Given the description of an element on the screen output the (x, y) to click on. 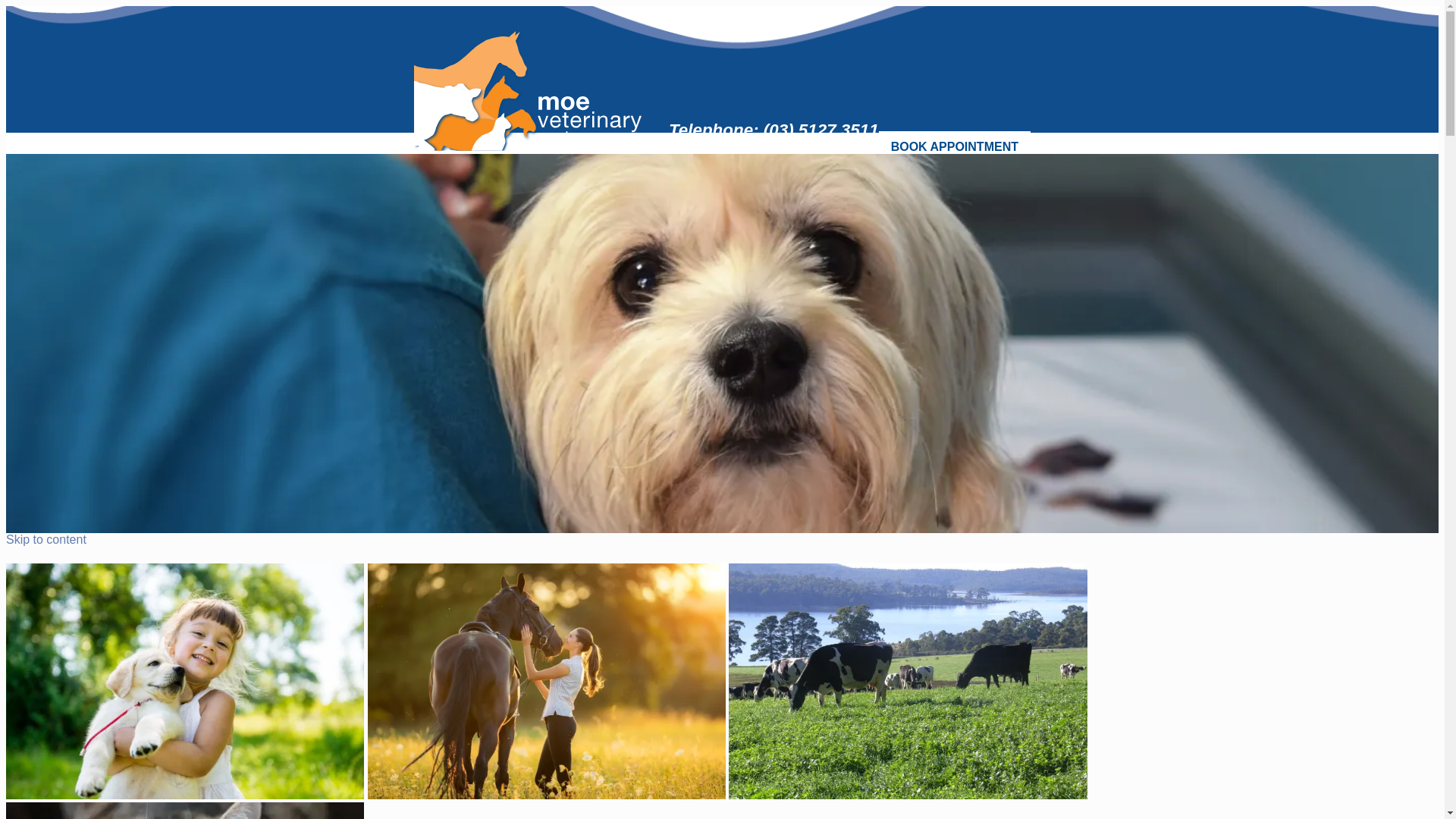
home Element type: hover (527, 90)
Telephone: (03) 5127 3511 Element type: text (773, 129)
BOOK APPOINTMENT Element type: text (954, 146)
Skip to content Element type: text (46, 539)
Welcome to Moe Veterinary Centre Element type: hover (907, 681)
Welcome to Moe Veterinary Centre Element type: hover (185, 681)
Welcome to Moe Veterinary Centre Element type: hover (546, 681)
